Given the description of an element on the screen output the (x, y) to click on. 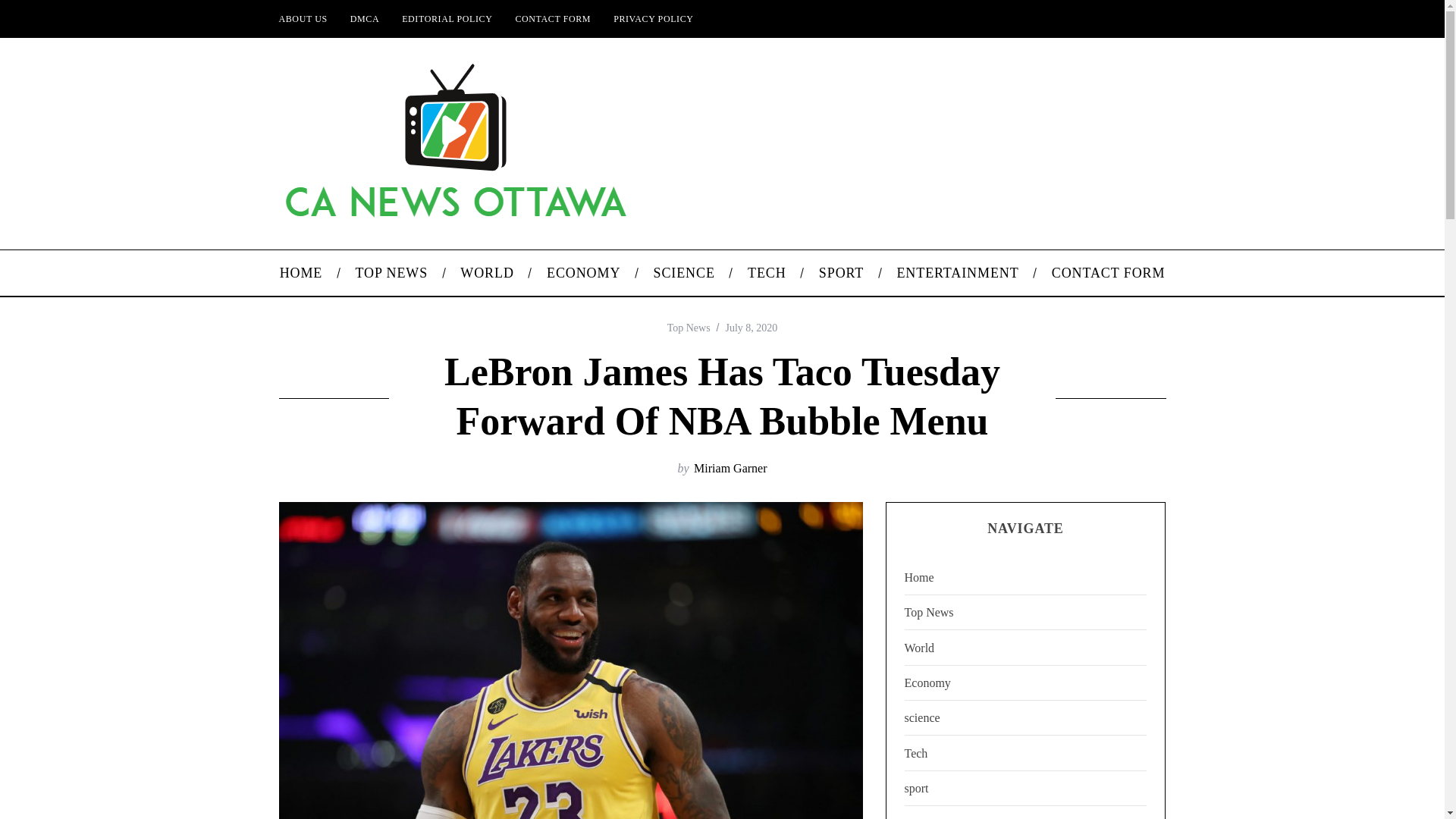
ENTERTAINMENT (957, 272)
TECH (766, 272)
CONTACT FORM (1107, 272)
PRIVACY POLICY (653, 18)
ABOUT US (301, 18)
SPORT (841, 272)
CONTACT FORM (552, 18)
DMCA (364, 18)
SCIENCE (684, 272)
EDITORIAL POLICY (446, 18)
